Given the description of an element on the screen output the (x, y) to click on. 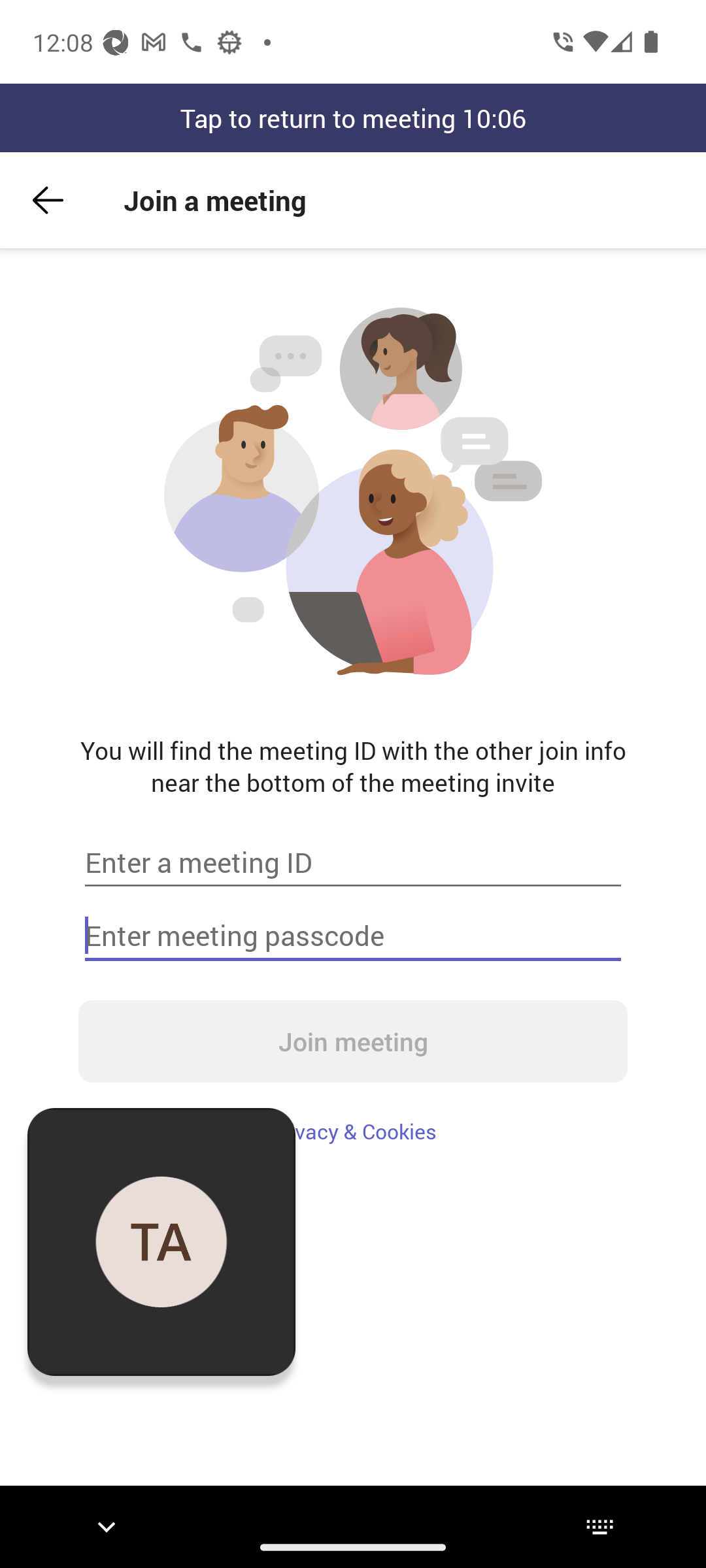
Tap to return to meeting 10:05 (353, 117)
Back (48, 199)
Enter a meeting ID (352, 863)
Enter meeting passcode (352, 936)
Join meeting (352, 1040)
